Given the description of an element on the screen output the (x, y) to click on. 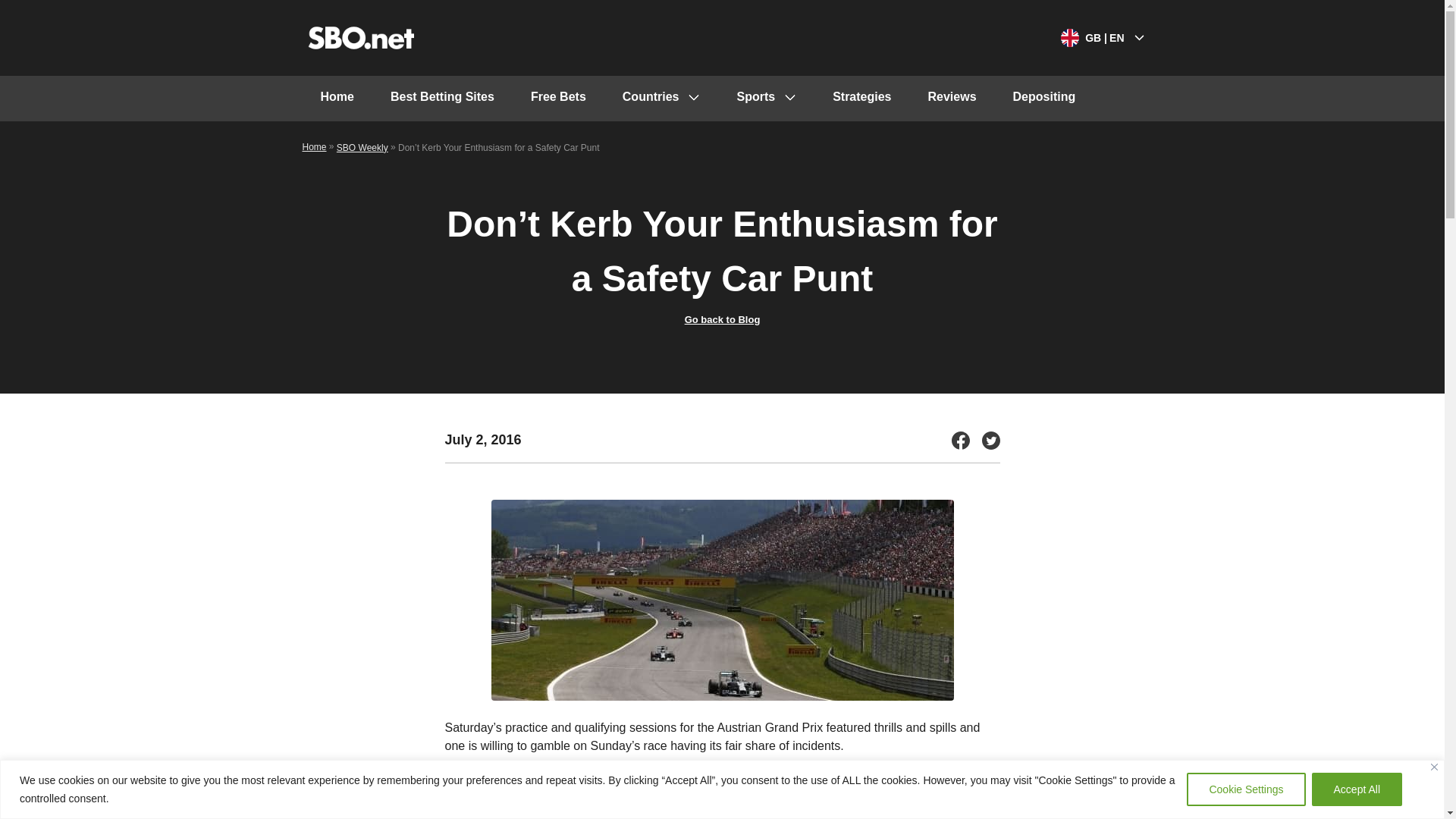
Free Bets (558, 98)
Accept All (1356, 789)
Best Betting Sites (442, 98)
Countries (661, 98)
Cookie Settings (1245, 789)
Home (336, 98)
Sports (765, 98)
